Given the description of an element on the screen output the (x, y) to click on. 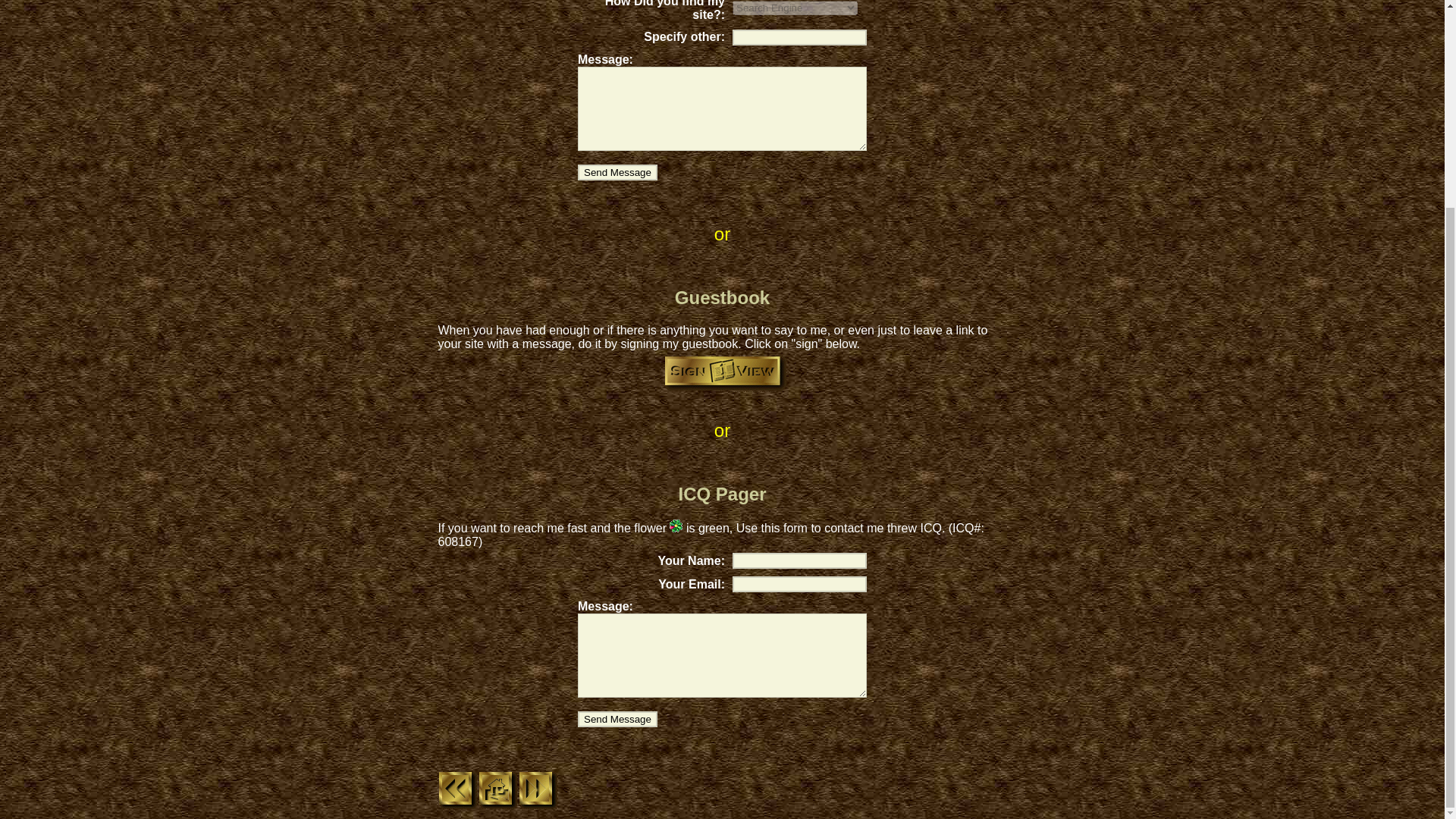
Send Message (618, 719)
Send Message (618, 172)
Send Message (618, 719)
Send Message (618, 172)
